Given the description of an element on the screen output the (x, y) to click on. 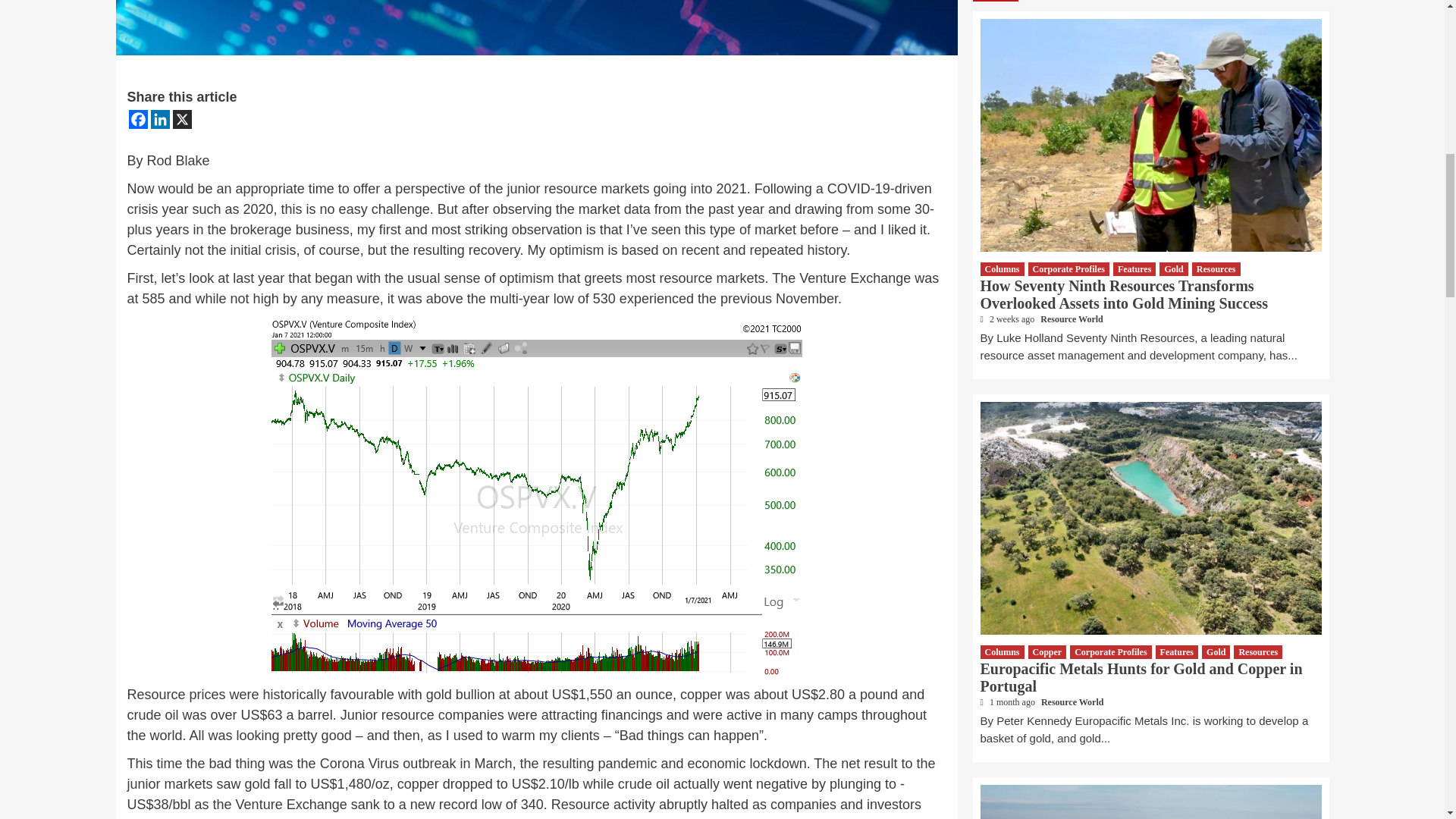
Linkedin (158, 118)
X (182, 118)
Facebook (138, 118)
